Given the description of an element on the screen output the (x, y) to click on. 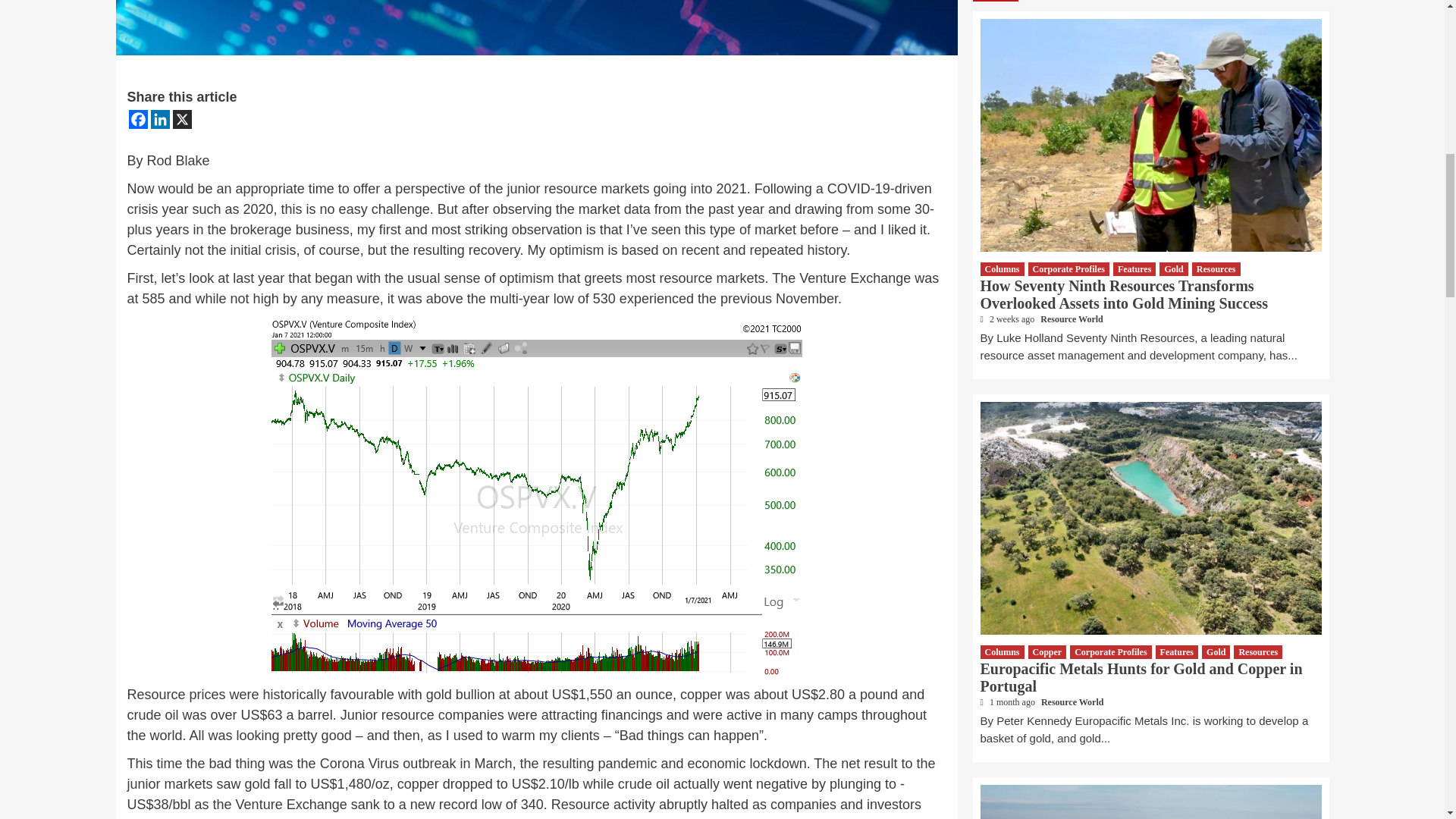
Linkedin (158, 118)
X (182, 118)
Facebook (138, 118)
